Given the description of an element on the screen output the (x, y) to click on. 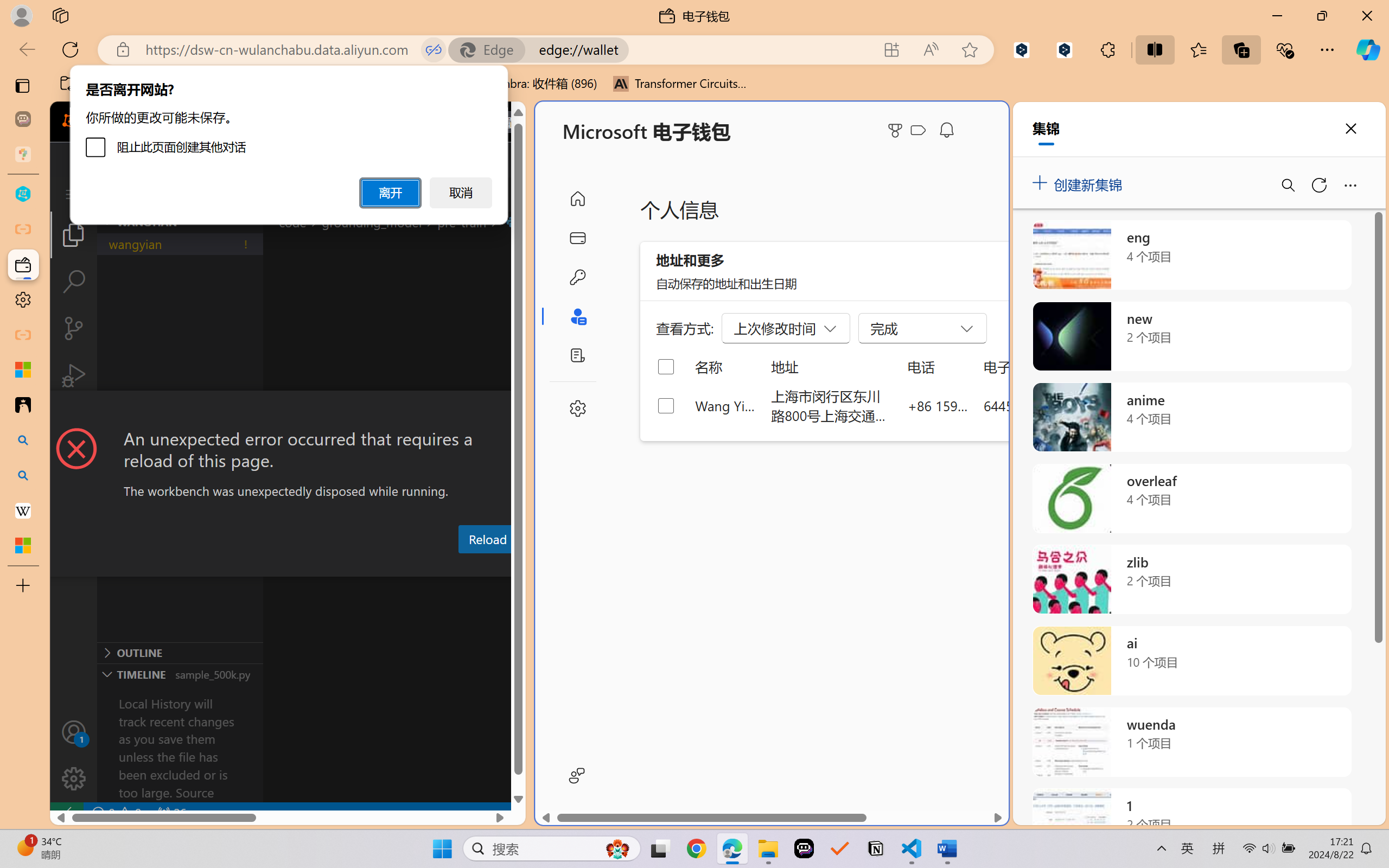
Adjust indents and spacing - Microsoft Support (22, 369)
Timeline Section (179, 673)
Extensions (Ctrl+Shift+X) (73, 422)
+86 159 0032 4640 (938, 405)
Microsoft Rewards (896, 129)
